Given the description of an element on the screen output the (x, y) to click on. 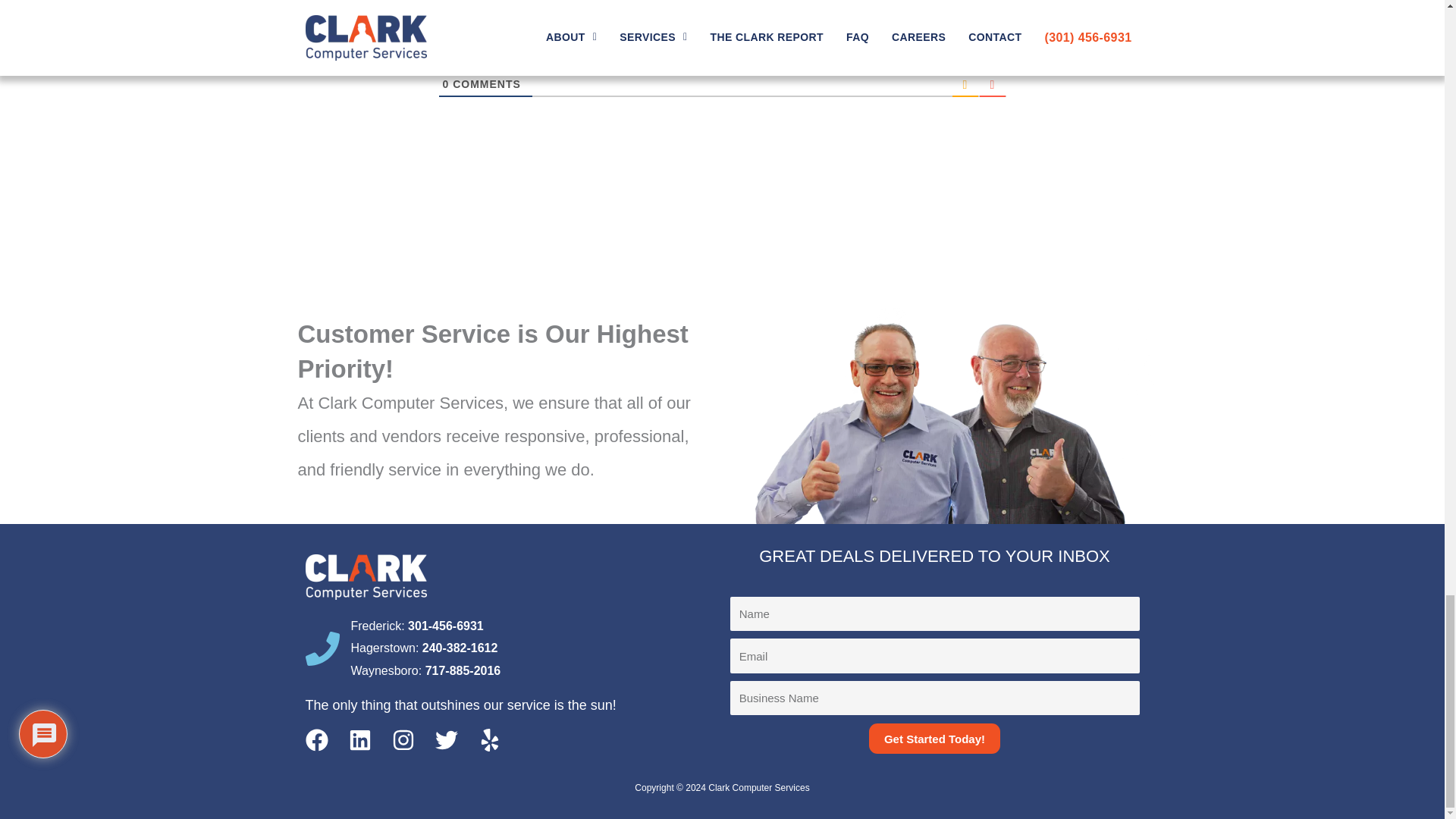
Ordered List (593, 28)
Bold (507, 28)
Strike (571, 28)
Blockquote (635, 28)
Italic (529, 28)
Underline (550, 28)
Unordered List (614, 28)
